Given the description of an element on the screen output the (x, y) to click on. 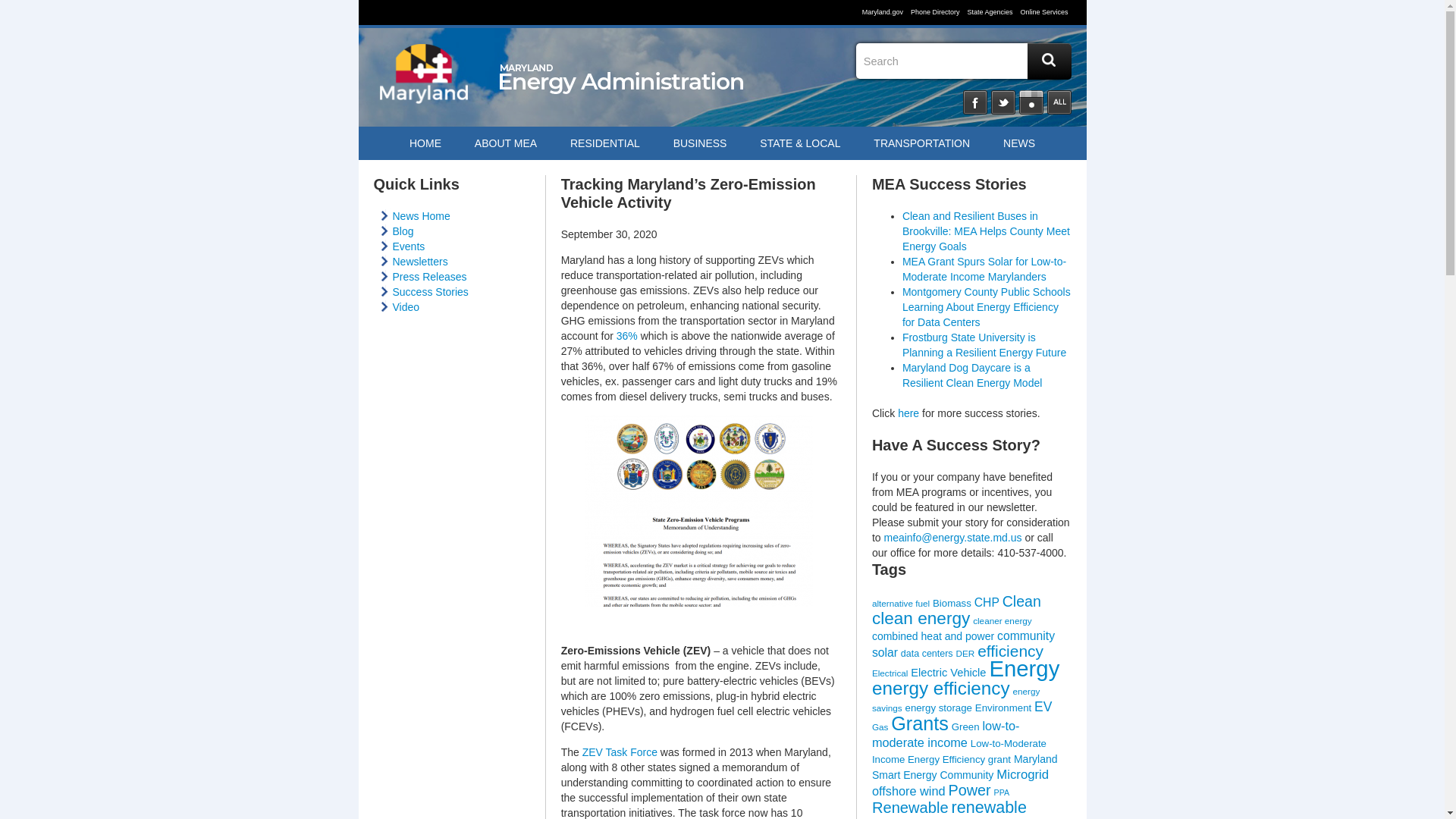
BUSINESS (700, 142)
Maryland.gov (884, 11)
Press Releases (430, 276)
MD Social Media Directory (1058, 102)
Events (409, 246)
Video (406, 306)
Online Services (1041, 11)
Blog (403, 231)
News Home (421, 215)
TRANSPORTATION (922, 142)
Instagram (1031, 102)
Twitter (1002, 102)
Twitter (1002, 102)
ABOUT MEA (505, 142)
Newsletters (420, 261)
